Given the description of an element on the screen output the (x, y) to click on. 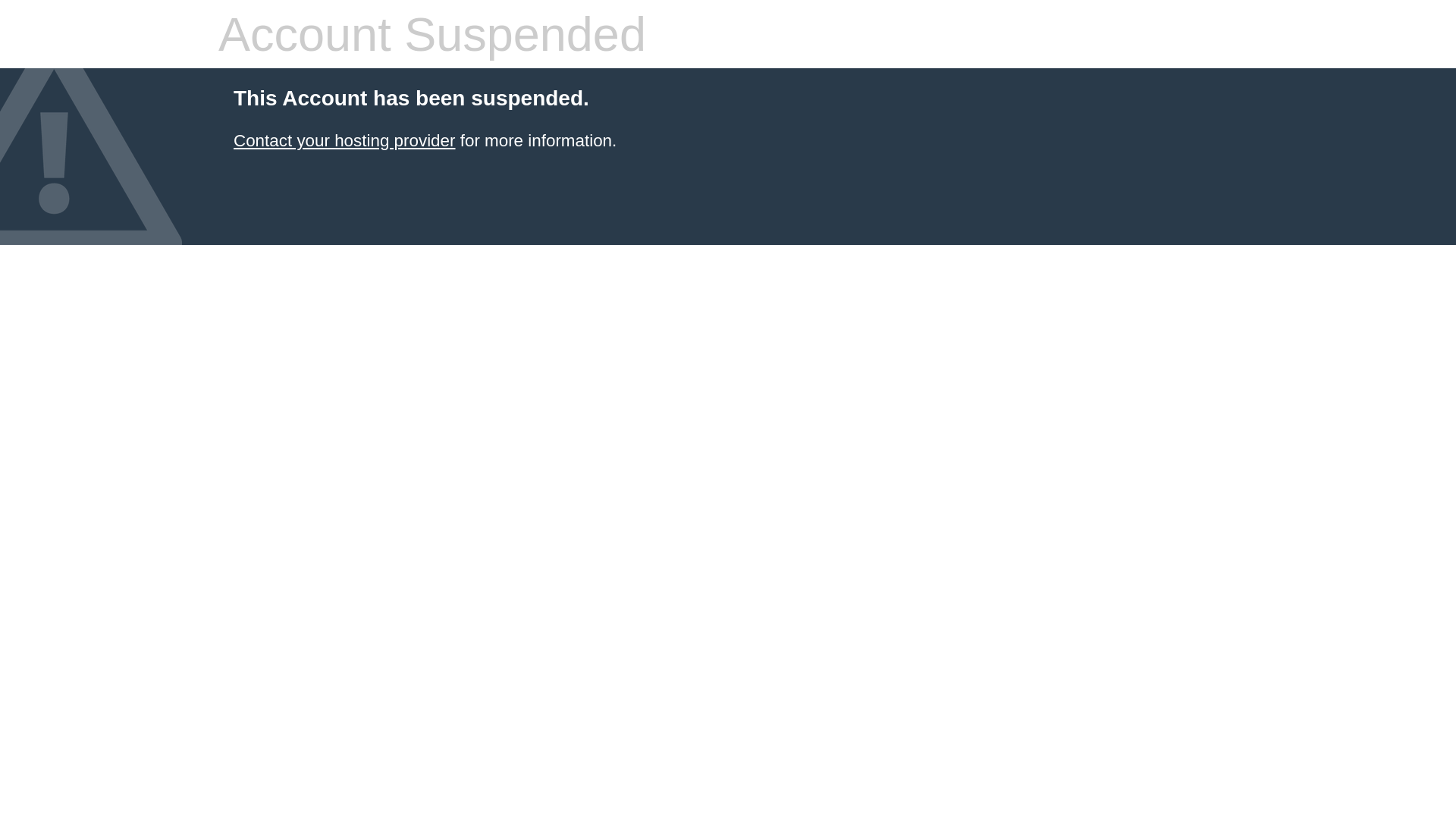
Contact your hosting provider Element type: text (344, 140)
